Given the description of an element on the screen output the (x, y) to click on. 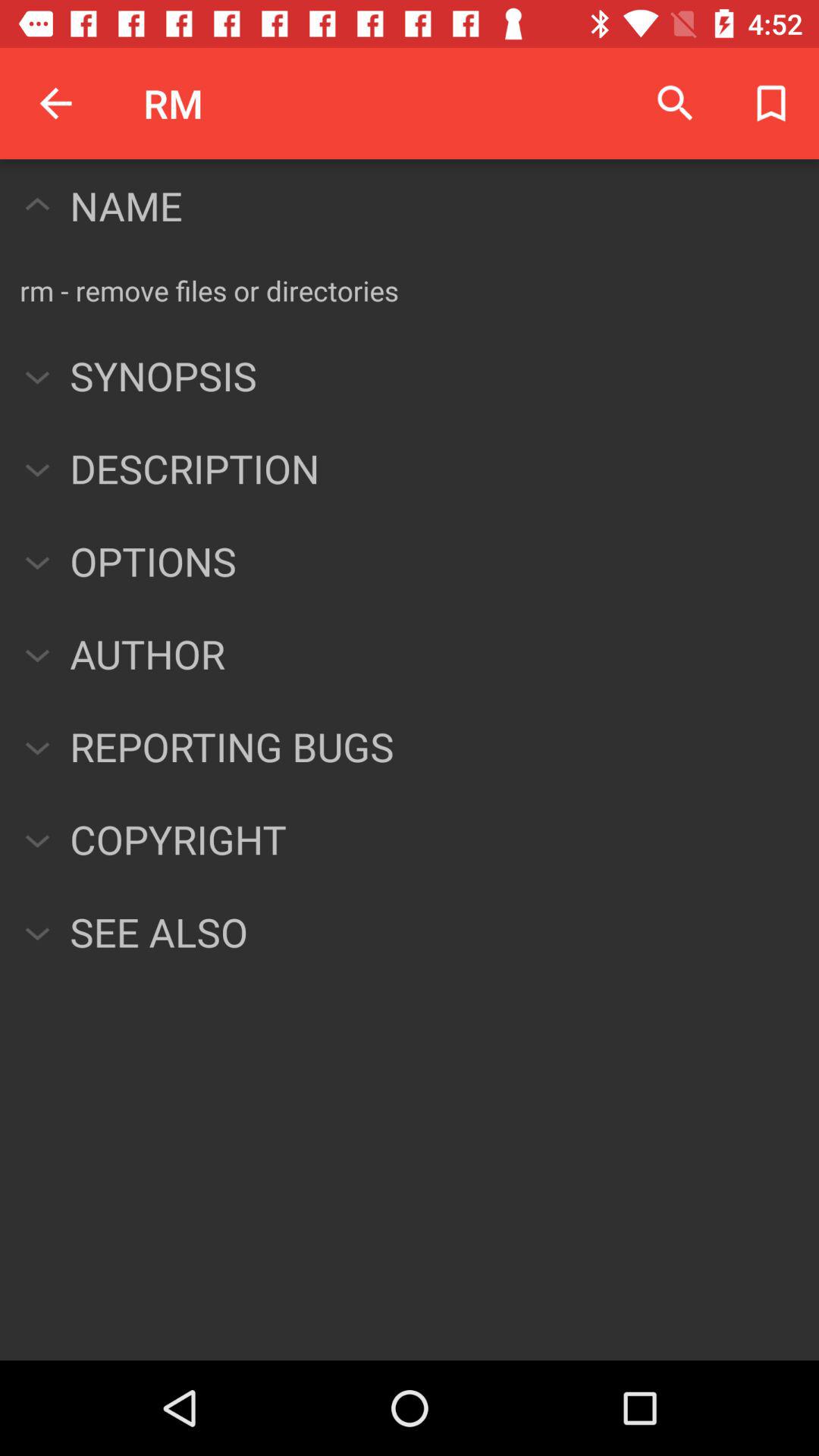
open the item above synopsis (208, 290)
